Given the description of an element on the screen output the (x, y) to click on. 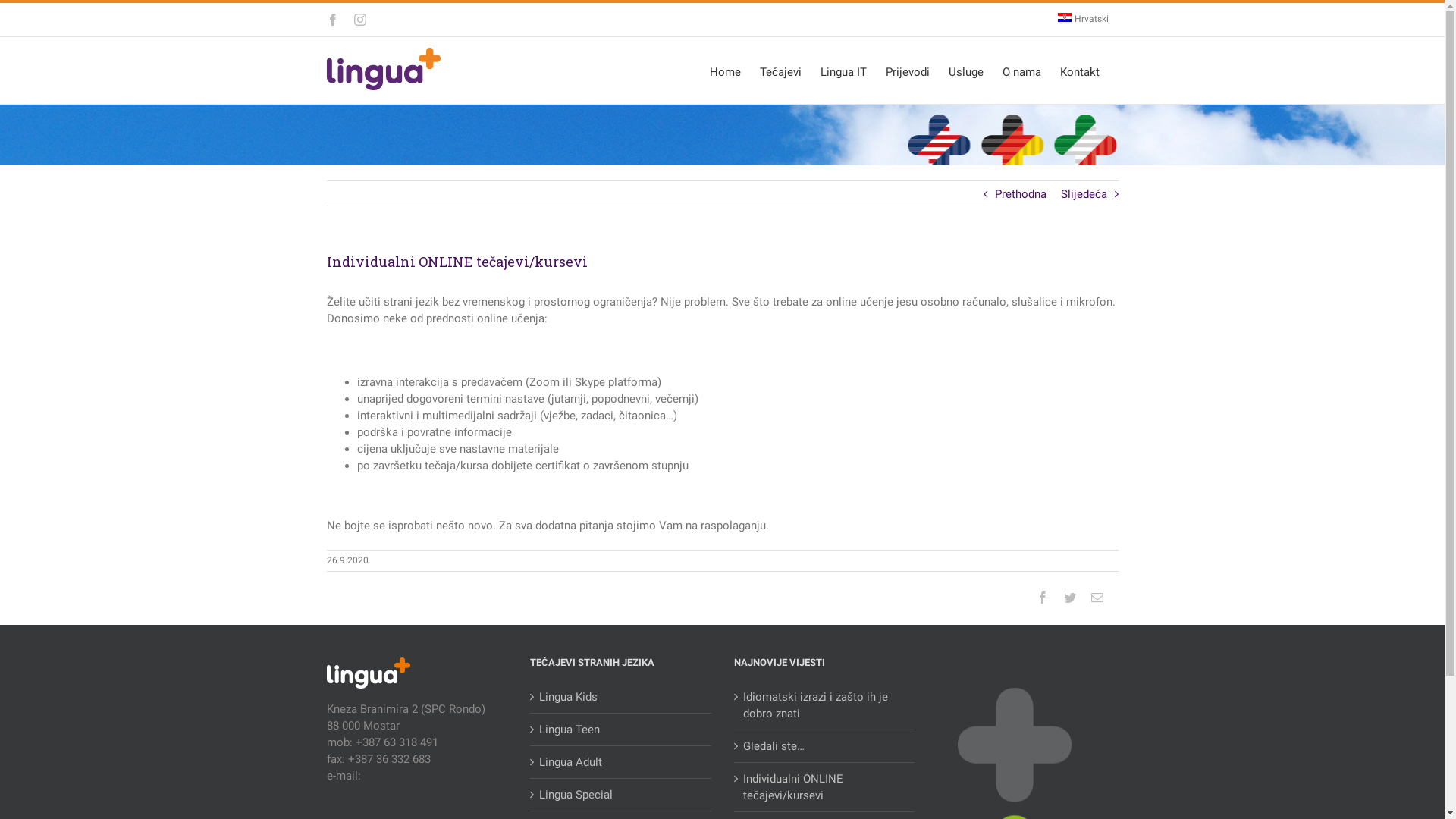
Twitter Element type: text (1069, 597)
Email: Element type: text (1096, 597)
Hrvatski Element type: text (1083, 19)
Lingua Special Element type: text (621, 794)
Usluge Element type: text (964, 70)
Instagram Element type: text (359, 19)
Facebook Element type: text (1041, 597)
Facebook Element type: text (332, 19)
O nama Element type: text (1021, 70)
Lingua IT Element type: text (843, 70)
Lingua Teen Element type: text (621, 729)
Home Element type: text (724, 70)
Prijevodi Element type: text (907, 70)
Prethodna Element type: text (1020, 194)
Kontakt Element type: text (1079, 70)
Lingua Adult Element type: text (621, 761)
Lingua Kids Element type: text (621, 696)
